Given the description of an element on the screen output the (x, y) to click on. 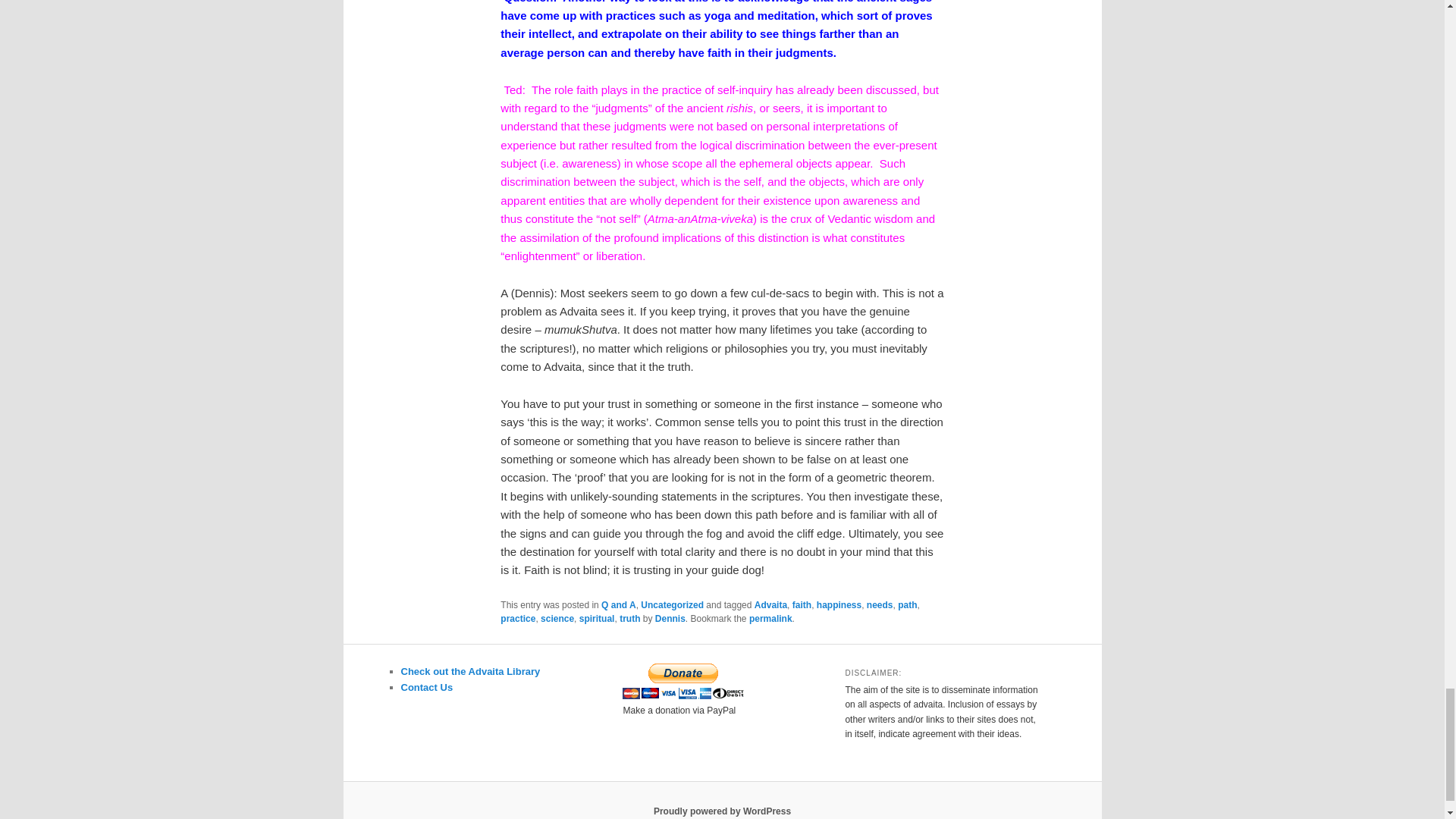
Provide suggestions, report problems etc (426, 686)
Semantic Personal Publishing Platform (721, 810)
